Given the description of an element on the screen output the (x, y) to click on. 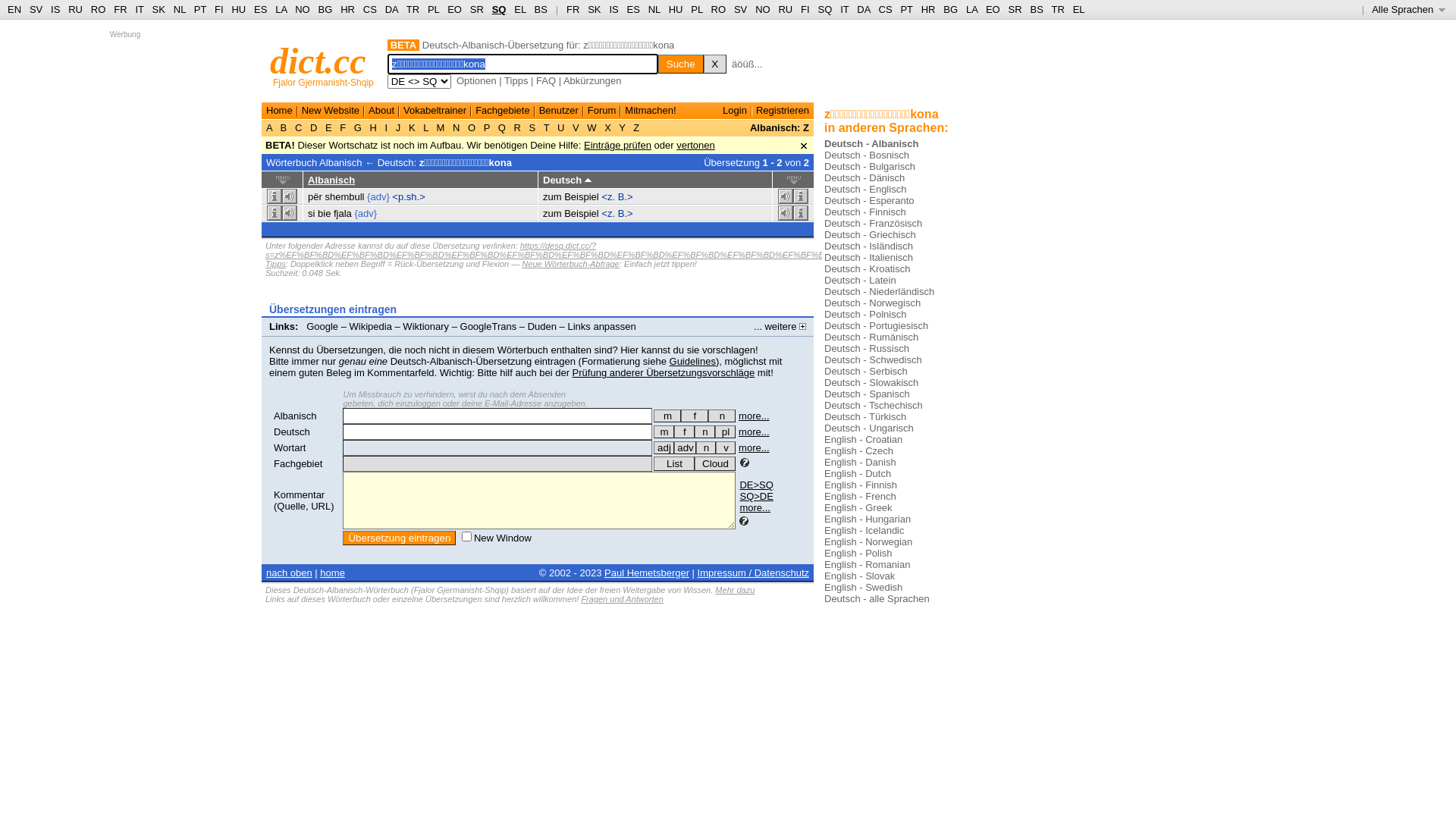
bie Element type: text (323, 213)
NO Element type: text (762, 9)
die - weiblich (Femininum) Element type: hover (684, 431)
nach oben Element type: text (289, 572)
C Element type: text (297, 127)
SK Element type: text (158, 9)
SV Element type: text (35, 9)
X Element type: text (608, 127)
English - French Element type: text (860, 496)
B Element type: text (283, 127)
I Element type: text (386, 127)
Deutsch - Bosnisch Element type: text (866, 154)
Suche Element type: text (680, 63)
D Element type: text (313, 127)
Tipps Element type: text (515, 80)
Deutsch Element type: text (291, 431)
Alle Sprachen  Element type: text (1408, 9)
HR Element type: text (347, 9)
Deutsch - Slowakisch Element type: text (871, 382)
NL Element type: text (654, 9)
IT Element type: text (844, 9)
PL Element type: text (433, 9)
RU Element type: text (75, 9)
PT Element type: text (200, 9)
Deutsch - Finnisch Element type: text (865, 211)
M Element type: text (440, 127)
n Element type: text (705, 447)
Deutsch - Ungarisch Element type: text (868, 427)
T Element type: text (546, 127)
FI Element type: text (804, 9)
English - Finnish Element type: text (860, 484)
Deutsch - Italienisch Element type: text (868, 257)
TR Element type: text (1057, 9)
zum Element type: text (551, 213)
DA Element type: text (391, 9)
more... Element type: text (753, 415)
ES Element type: text (633, 9)
FR Element type: text (572, 9)
ES Element type: text (260, 9)
J Element type: text (397, 127)
Vokabeltrainer Element type: text (434, 110)
PT Element type: text (906, 9)
die - Mehrzahl (Plural) Element type: hover (725, 431)
EO Element type: text (454, 9)
Google Element type: text (322, 326)
HU Element type: text (238, 9)
PL Element type: text (696, 9)
SK Element type: text (593, 9)
f Element type: text (684, 431)
RU Element type: text (785, 9)
SR Element type: text (476, 9)
Albanisch Element type: text (294, 415)
SR Element type: text (1015, 9)
S Element type: text (532, 127)
Deutsch - Englisch Element type: text (865, 188)
TR Element type: text (412, 9)
Login Element type: text (734, 110)
Deutsch - Russisch Element type: text (866, 348)
Paul Hemetsberger Element type: text (646, 572)
<z. Element type: text (608, 213)
English - Swedish Element type: text (863, 587)
Fachgebiete Element type: text (502, 110)
English - Dutch Element type: text (857, 473)
Deutsch - Norwegisch Element type: text (872, 302)
EL Element type: text (519, 9)
HR Element type: text (928, 9)
HU Element type: text (675, 9)
GoogleTrans Element type: text (488, 326)
SQ Element type: text (499, 9)
Deutsch - Kroatisch Element type: text (867, 268)
DA Element type: text (862, 9)
English - Norwegian Element type: text (868, 541)
<z. Element type: text (608, 196)
si Element type: text (310, 213)
dict.cc Element type: text (317, 60)
English - Czech Element type: text (858, 450)
Deutsch - Esperanto Element type: text (869, 200)
K Element type: text (411, 127)
Albanisch Element type: text (330, 179)
English - Croatian Element type: text (863, 439)
English - Danish Element type: text (860, 461)
Deutsch - Bulgarisch Element type: text (869, 166)
English - Icelandic Element type: text (864, 530)
O Element type: text (470, 127)
CS Element type: text (369, 9)
shembull Element type: text (344, 196)
adv Element type: text (685, 447)
LA Element type: text (971, 9)
A Element type: text (270, 127)
vertonen Element type: text (695, 144)
Beispiel Element type: text (581, 196)
H Element type: text (373, 127)
v Element type: text (725, 447)
P Element type: text (486, 127)
R Element type: text (517, 127)
BS Element type: text (540, 9)
BS Element type: text (1035, 9)
Z Element type: text (636, 127)
BG Element type: text (325, 9)
Deutsch - Latein Element type: text (860, 279)
English - Romanian Element type: text (867, 564)
LA Element type: text (280, 9)
Registrieren Element type: text (782, 110)
zum Element type: text (551, 196)
Impressum / Datenschutz Element type: text (753, 572)
English - Polish Element type: text (858, 552)
V Element type: text (575, 127)
pl Element type: text (725, 431)
Deutsch - Albanisch Element type: text (871, 143)
SQ>DE Element type: text (755, 496)
SQ Element type: text (824, 9)
Beispiel Element type: text (581, 213)
English - Hungarian Element type: text (867, 518)
Deutsch - Schwedisch Element type: text (873, 359)
Deutsch - Polnisch Element type: text (865, 314)
L Element type: text (425, 127)
FI Element type: text (218, 9)
f Element type: text (694, 415)
EL Element type: text (1079, 9)
Home Element type: text (279, 110)
About Element type: text (381, 110)
<p.sh.> Element type: text (408, 196)
Optionen Element type: text (476, 80)
more... Element type: text (753, 431)
mashkullor Element type: hover (666, 415)
English - Slovak Element type: text (859, 575)
more... Element type: text (754, 507)
B.> Element type: text (625, 213)
... weitere Element type: text (779, 326)
more... Element type: text (753, 447)
RO Element type: text (98, 9)
Deutsch - Portugiesisch Element type: text (876, 325)
Deutsch - Serbisch Element type: text (865, 370)
n Element type: text (721, 415)
m Element type: text (666, 415)
SV Element type: text (740, 9)
FR Element type: text (119, 9)
X Element type: text (714, 63)
DE>SQ Element type: text (755, 484)
IT Element type: text (138, 9)
Forum Element type: text (601, 110)
B.> Element type: text (625, 196)
IS Element type: text (54, 9)
E Element type: text (328, 127)
English - Greek Element type: text (858, 507)
RO Element type: text (718, 9)
Deutsch - Spanisch Element type: text (867, 393)
BG Element type: text (950, 9)
home Element type: text (332, 572)
Y Element type: text (621, 127)
Guidelines Element type: text (692, 361)
G Element type: text (357, 127)
Mehr dazu Element type: text (734, 589)
U Element type: text (560, 127)
m Element type: text (663, 431)
Mitmachen! Element type: text (649, 110)
New Website Element type: text (330, 110)
IS Element type: text (613, 9)
Wiktionary Element type: text (425, 326)
fjala Element type: text (342, 213)
EN Element type: text (14, 9)
W Element type: text (591, 127)
NO Element type: text (302, 9)
Wikipedia Element type: text (370, 326)
Duden Element type: text (541, 326)
FAQ Element type: text (545, 80)
Fragen und Antworten Element type: text (621, 598)
Links anpassen Element type: text (601, 326)
NL Element type: text (179, 9)
N Element type: text (455, 127)
List Element type: text (673, 463)
Deutsch - Tschechisch Element type: text (873, 405)
Tipps Element type: text (275, 263)
Deutsch - alle Sprachen Element type: text (876, 598)
adj Element type: text (663, 447)
Benutzer Element type: text (558, 110)
Q Element type: text (501, 127)
Albanisch: Z Element type: text (779, 127)
Cloud Element type: text (714, 463)
Deutsch - Griechisch Element type: text (870, 234)
EO Element type: text (992, 9)
F Element type: text (342, 127)
n Element type: text (704, 431)
CS Element type: text (884, 9)
